Given the description of an element on the screen output the (x, y) to click on. 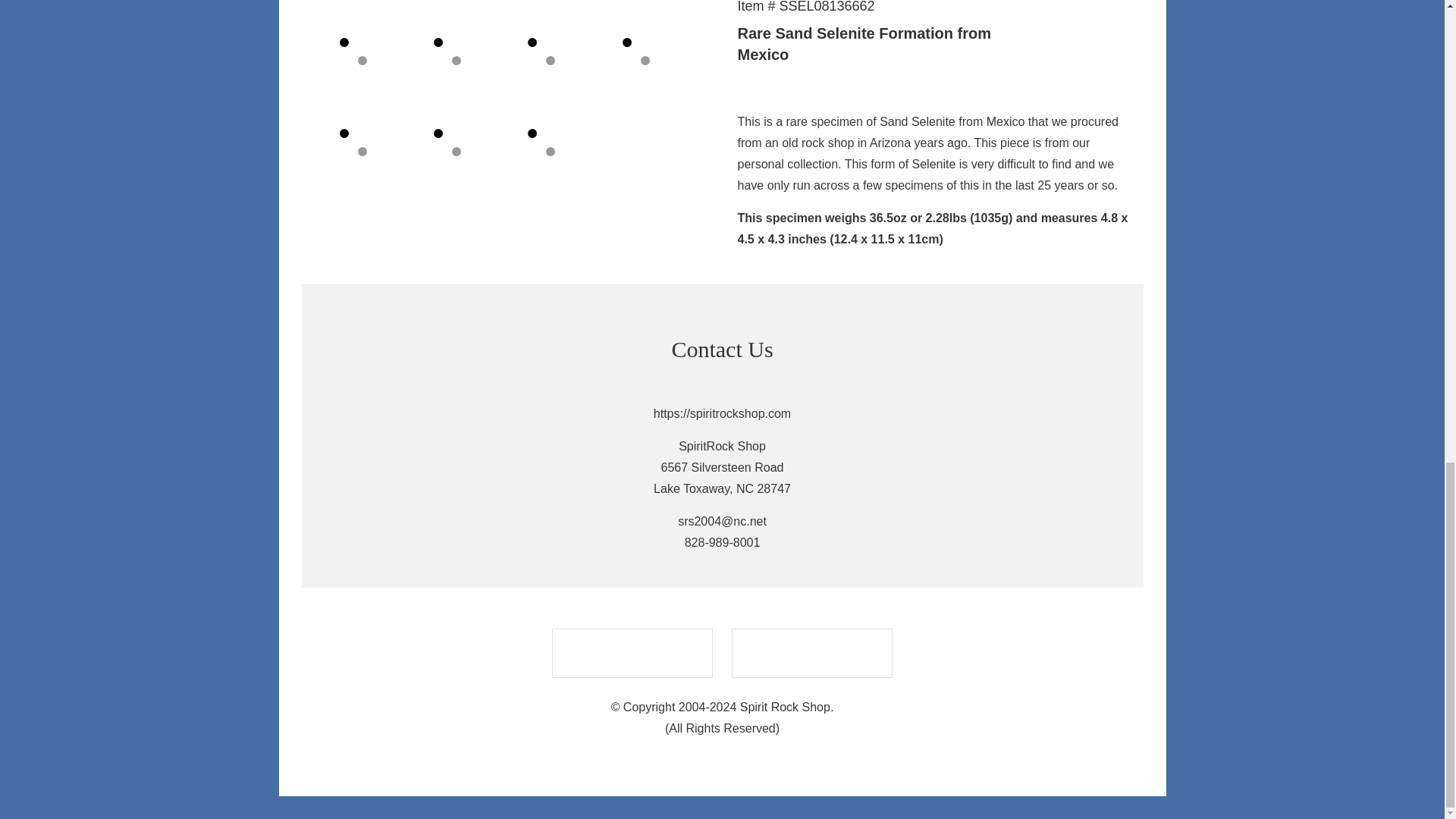
PayPal (811, 653)
Animated moving meteor in sky (943, 478)
Spirit Rock Shop (632, 653)
Spirit Rock Shop (500, 478)
828-989-8001 (722, 542)
